Given the description of an element on the screen output the (x, y) to click on. 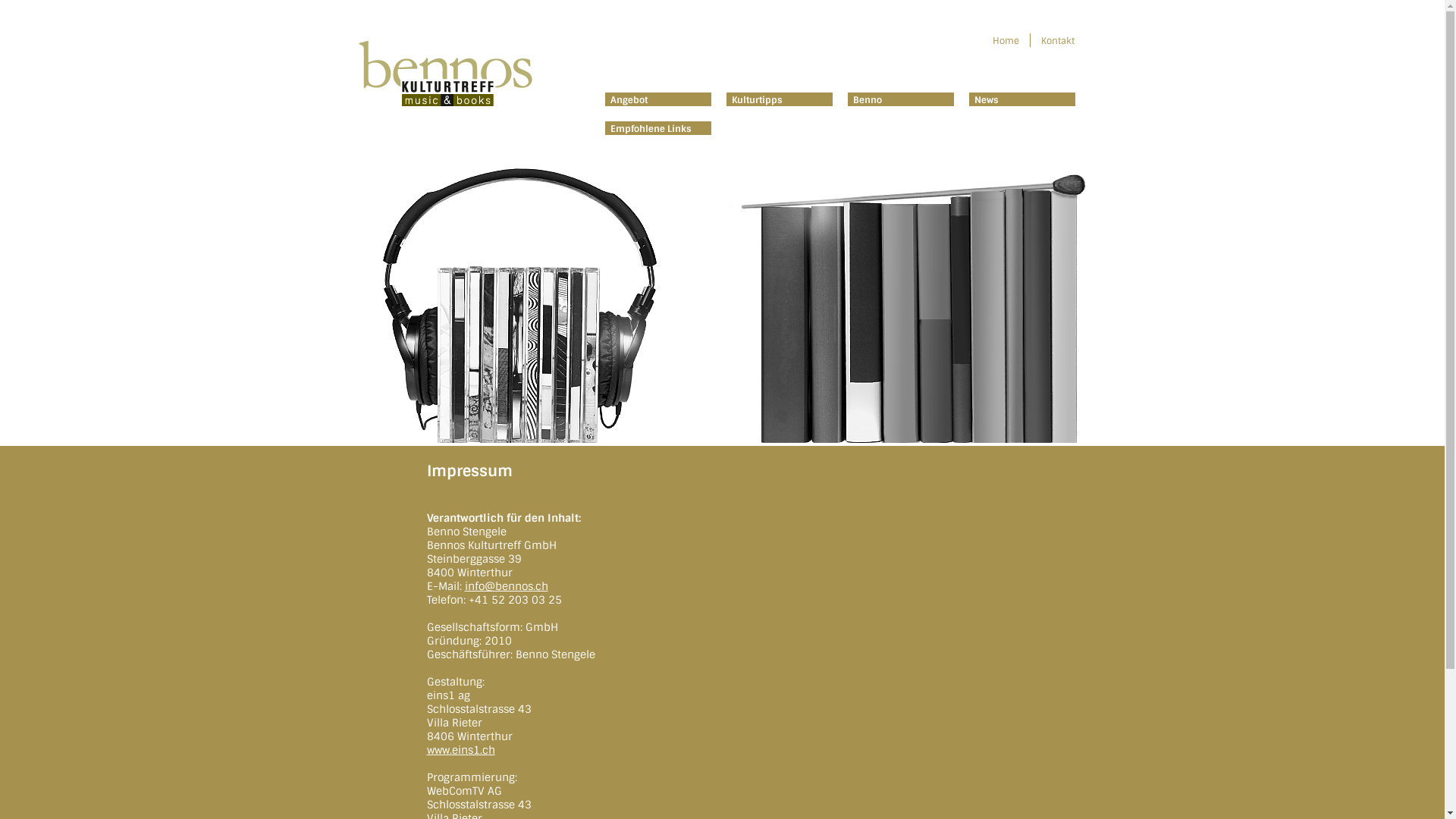
  Element type: text (1087, 76)
www.eins1.ch Element type: text (460, 749)
bennos Element type: hover (444, 53)
Buchtipps Element type: hover (903, 438)
Kontakt Element type: text (1057, 40)
Empfohlene Links Element type: text (648, 128)
Angebot Element type: text (626, 100)
  Element type: text (991, 46)
Kulturtipps Element type: text (755, 100)
Benno Element type: text (865, 100)
News Element type: text (984, 100)
info@bennos.ch Element type: text (505, 586)
CD-Tipps Element type: hover (539, 438)
Home Element type: text (1006, 40)
